Given the description of an element on the screen output the (x, y) to click on. 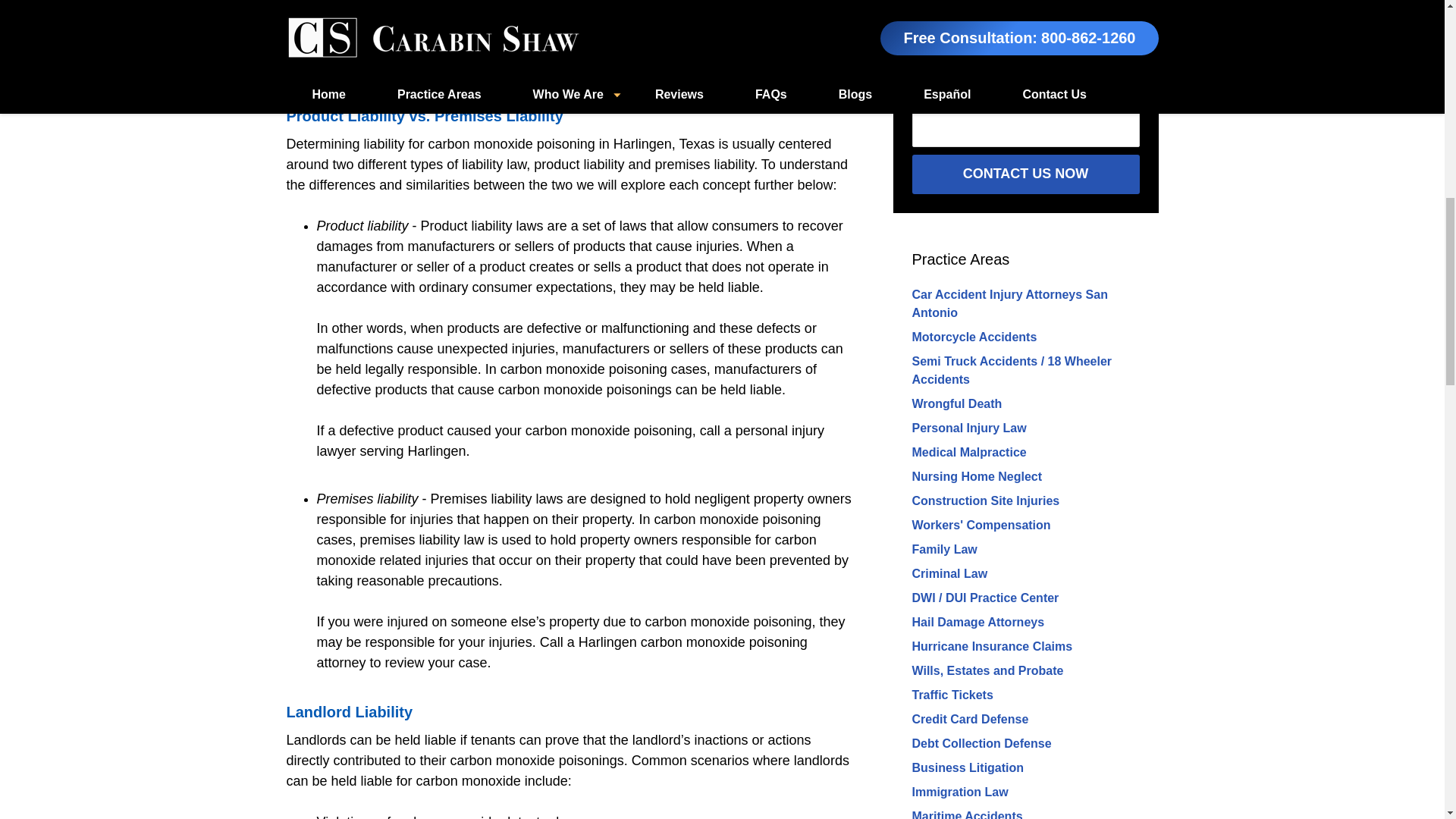
Car Accident Injury Attorneys San Antonio (1008, 303)
Workers' Compensation (980, 524)
Construction Site Injuries (985, 500)
Personal Injury Law (968, 427)
Wrongful Death (956, 403)
Carabin Shaw (486, 52)
Hurricane Insurance Claims (991, 645)
Criminal Law (949, 573)
Nursing Home Neglect (976, 476)
Practice Areas (960, 258)
